Given the description of an element on the screen output the (x, y) to click on. 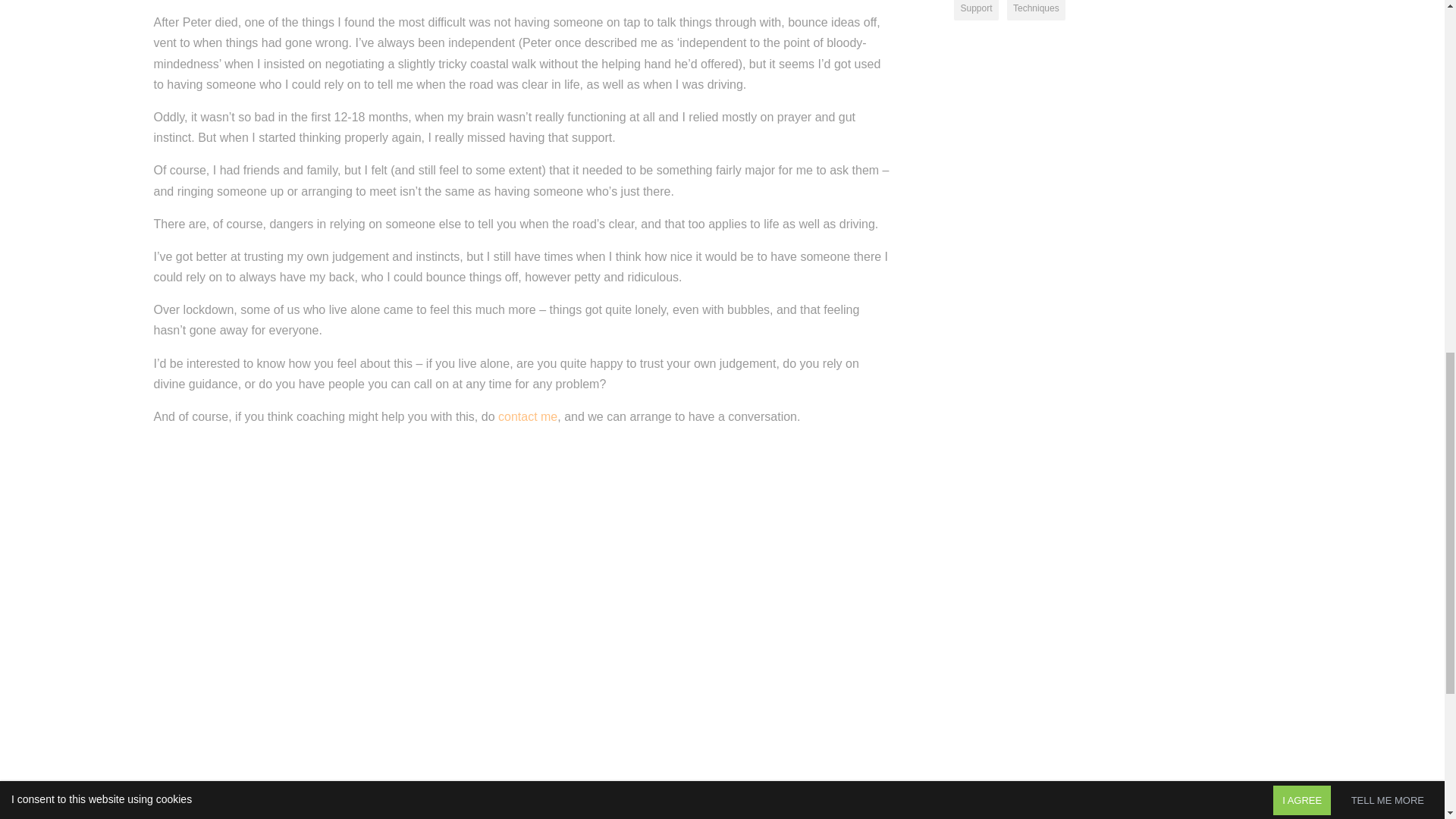
Get in touch (527, 416)
contact me (527, 416)
